Given the description of an element on the screen output the (x, y) to click on. 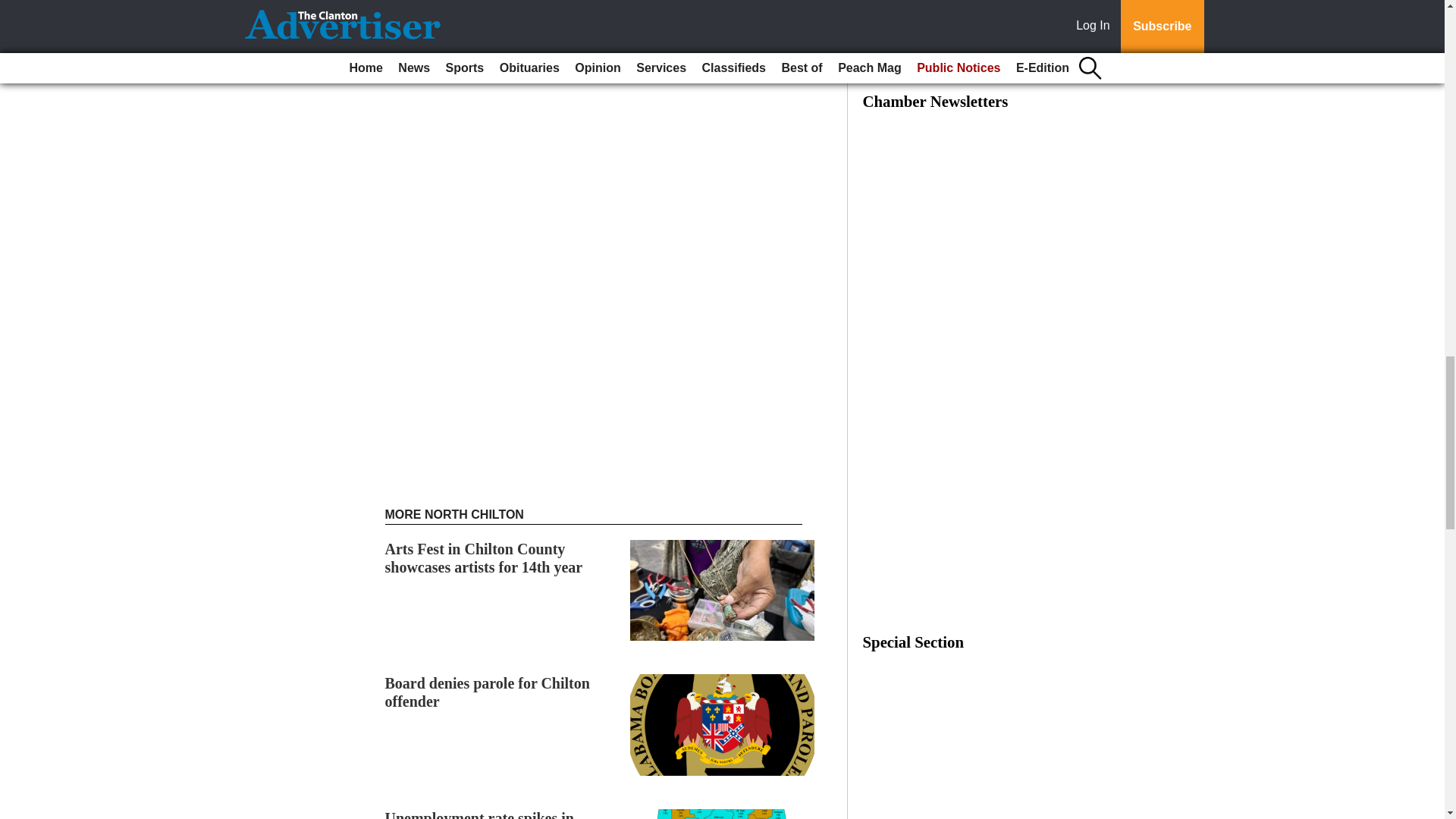
Arts Fest in Chilton County showcases artists for 14th year (484, 557)
Arts Fest in Chilton County showcases artists for 14th year (484, 557)
Board denies parole for Chilton offender (487, 692)
Unemployment rate spikes in Chilton from May to June (479, 814)
Board denies parole for Chilton offender (487, 692)
Unemployment rate spikes in Chilton from May to June (479, 814)
